Given the description of an element on the screen output the (x, y) to click on. 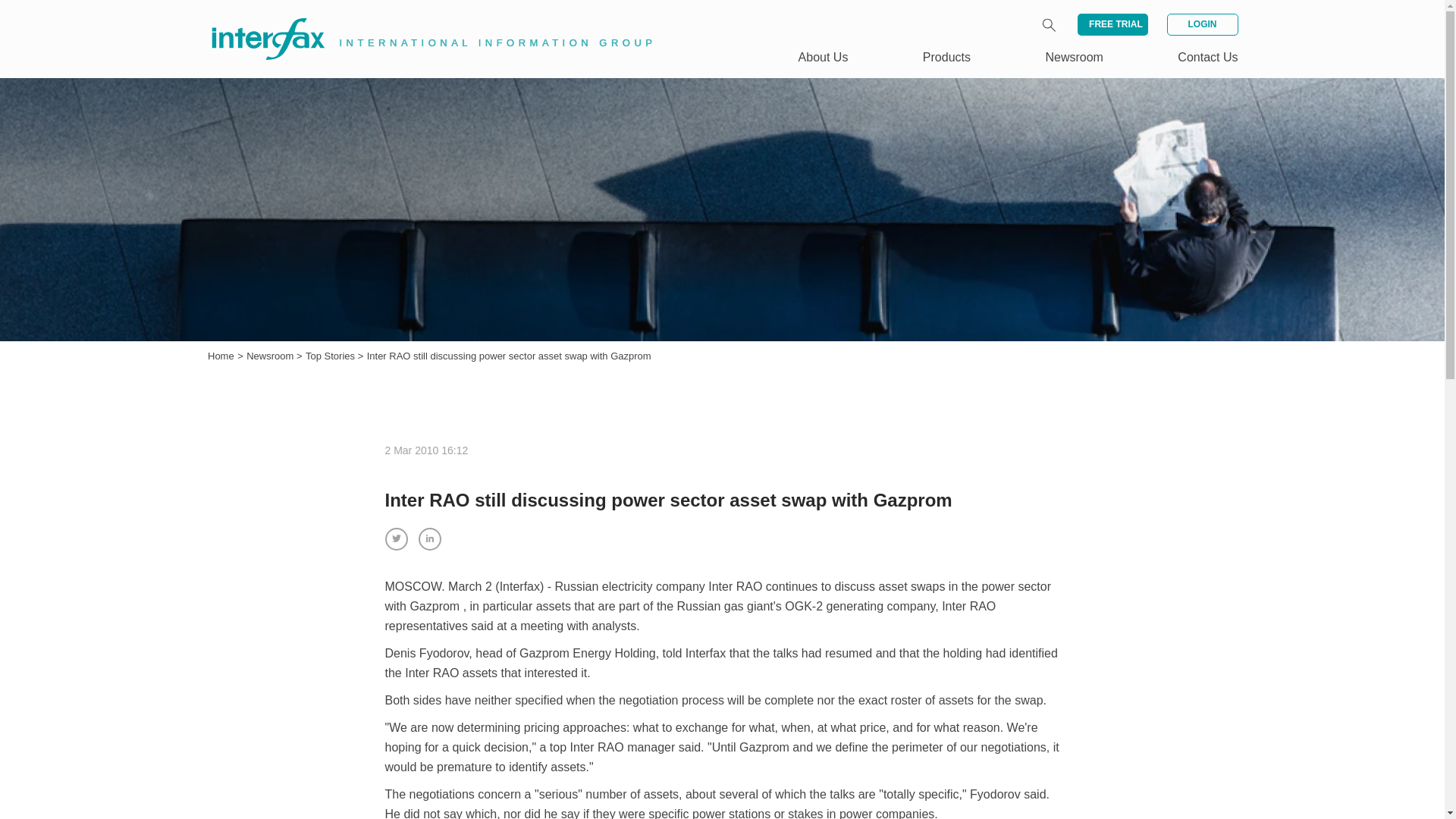
Home (221, 355)
Top Stories (331, 355)
FREE TRIAL (1112, 24)
LOGIN (1201, 24)
Newsroom (271, 355)
Newsroom (271, 355)
INTERNATIONAL INFORMATION GROUP (421, 20)
Contact Us (1207, 56)
Products (947, 56)
About Us (822, 56)
